Given the description of an element on the screen output the (x, y) to click on. 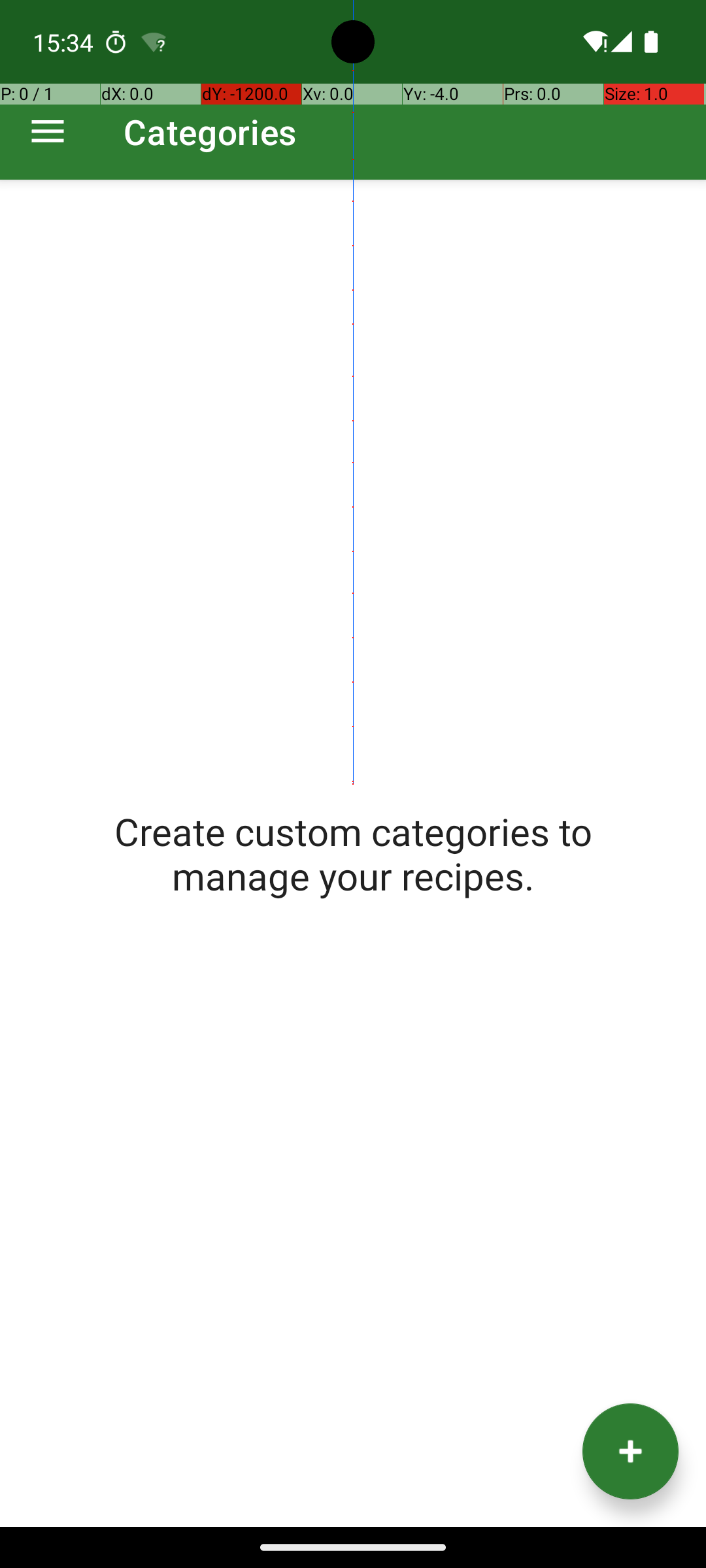
Create custom categories to manage your recipes. Element type: android.widget.TextView (353, 852)
Add category Element type: android.widget.ImageButton (630, 1451)
